Given the description of an element on the screen output the (x, y) to click on. 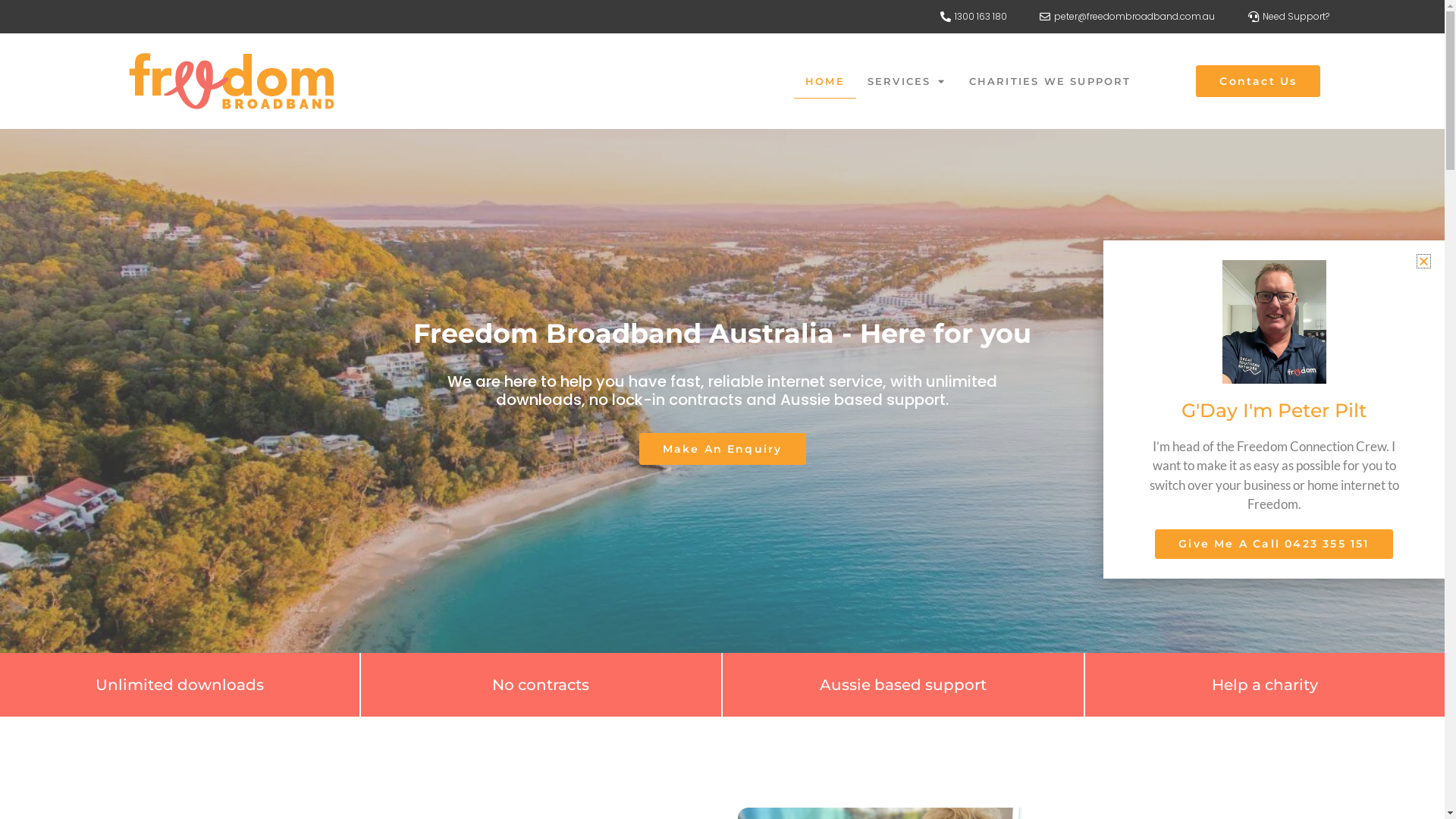
1300 163 180 Element type: text (972, 16)
peter@freedombroadband.com.au Element type: text (1126, 16)
HOME Element type: text (824, 80)
SERVICES Element type: text (906, 80)
Need Support? Element type: text (1287, 16)
CHARITIES WE SUPPORT Element type: text (1049, 80)
Give Me A Call 0423 355 151 Element type: text (1273, 543)
Contact Us Element type: text (1257, 81)
Make An Enquiry Element type: text (721, 448)
